Given the description of an element on the screen output the (x, y) to click on. 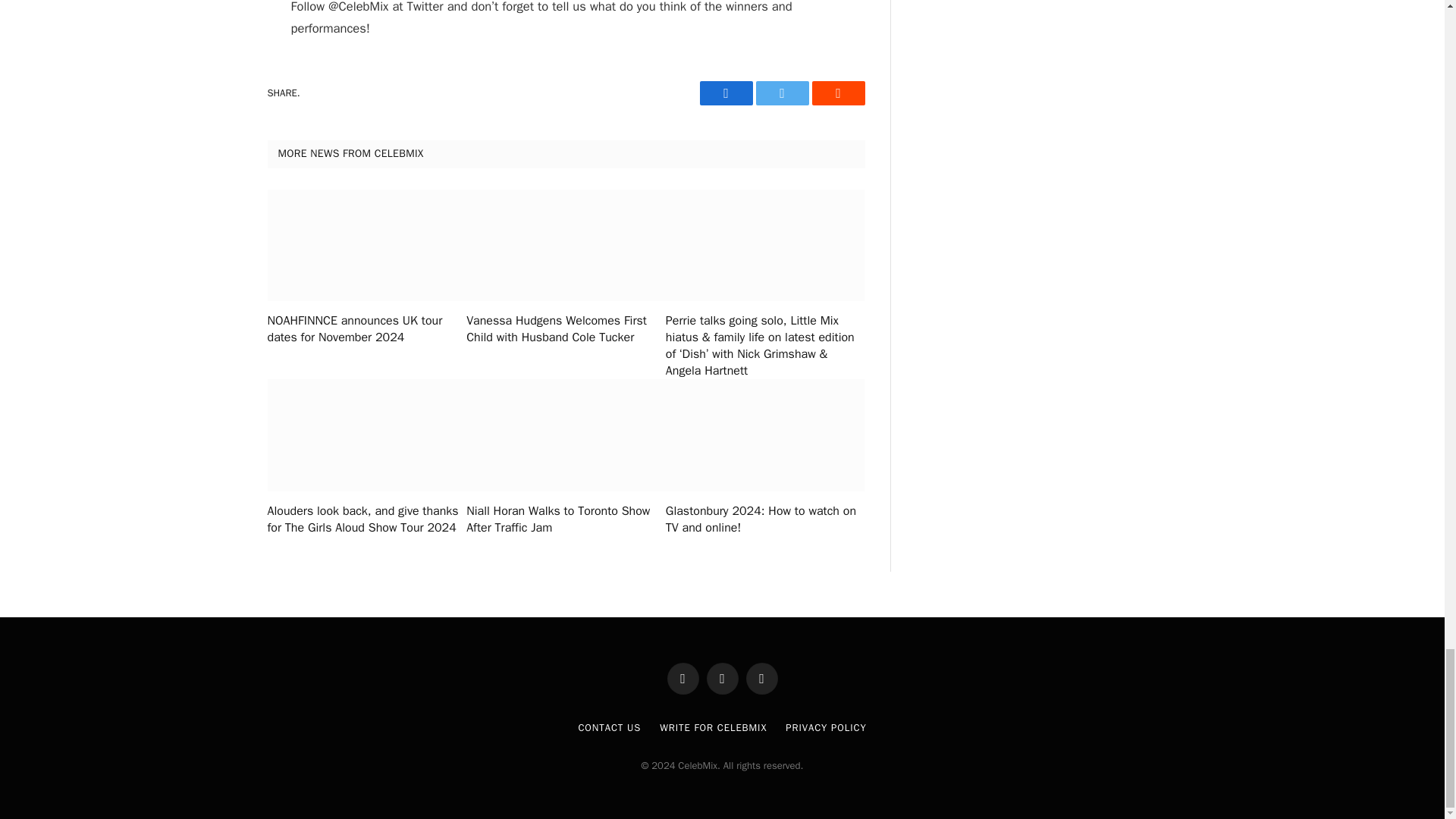
Share on Facebook (725, 93)
Niall Horan Walks to Toronto Show After Traffic Jam (565, 520)
Facebook (725, 93)
Twitter (781, 93)
Reddit (837, 93)
NOAHFINNCE announces UK tour dates for November 2024 (365, 329)
